Given the description of an element on the screen output the (x, y) to click on. 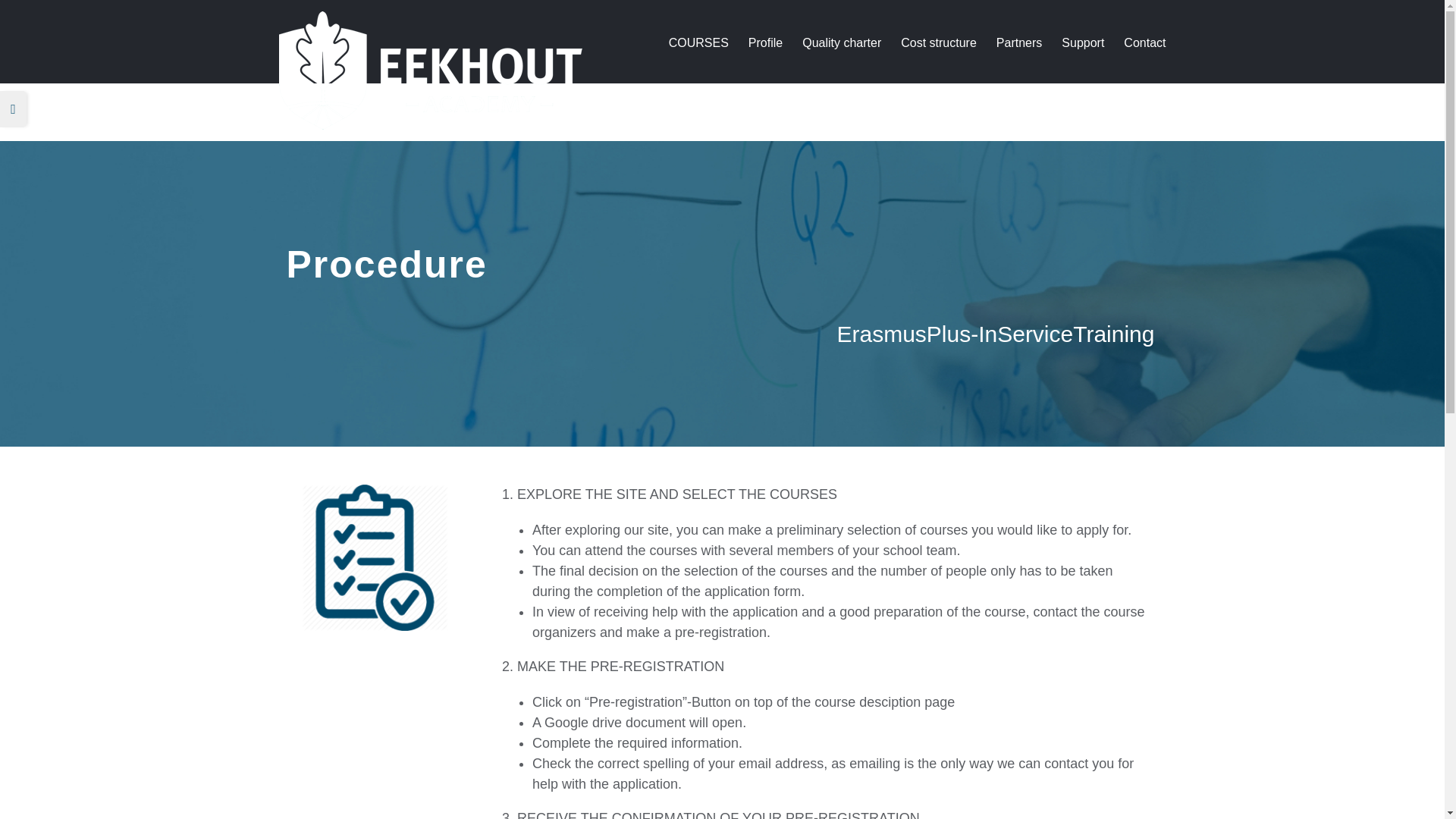
Quality charter (841, 41)
Cost structure (938, 41)
